Given the description of an element on the screen output the (x, y) to click on. 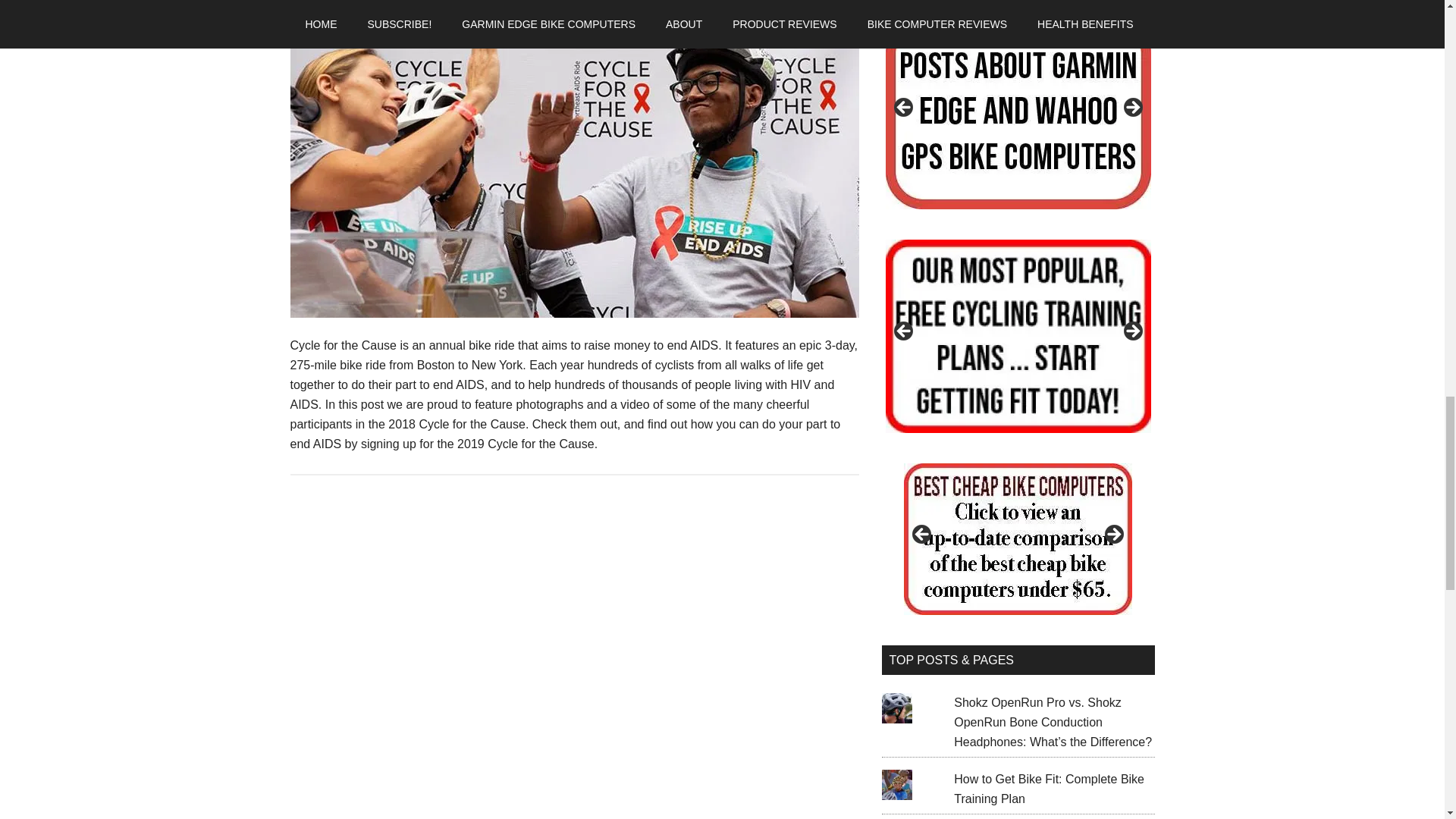
Slide 7 (752, 336)
slide 2 best indoor budget bike trainers (1018, 539)
Slide 8 (1018, 336)
Slide 5 (1018, 112)
slide 1 best indoor budget bike trainers (789, 539)
Slide 6 (752, 112)
